Given the description of an element on the screen output the (x, y) to click on. 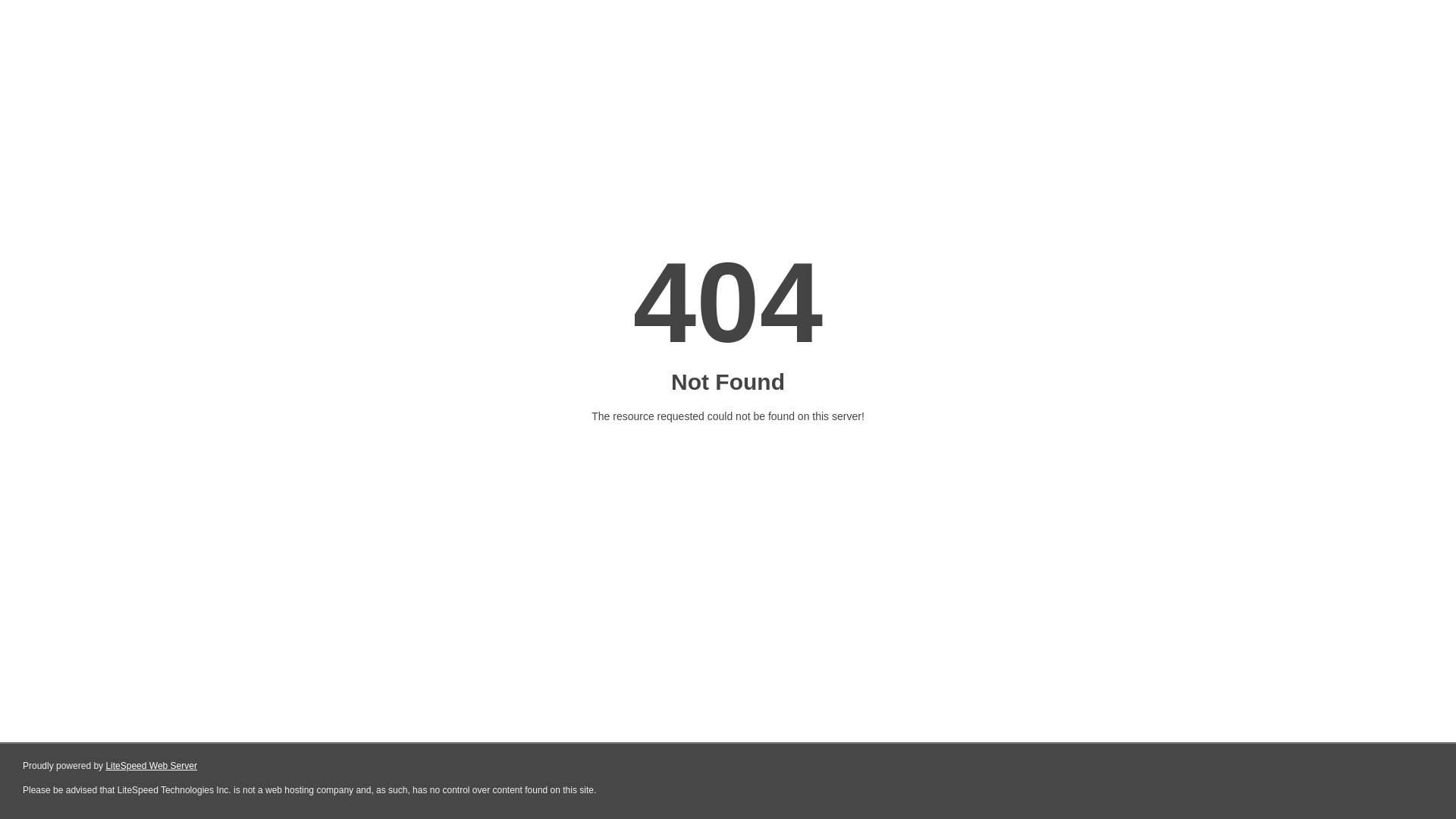
LiteSpeed Web Server Element type: text (151, 765)
